Given the description of an element on the screen output the (x, y) to click on. 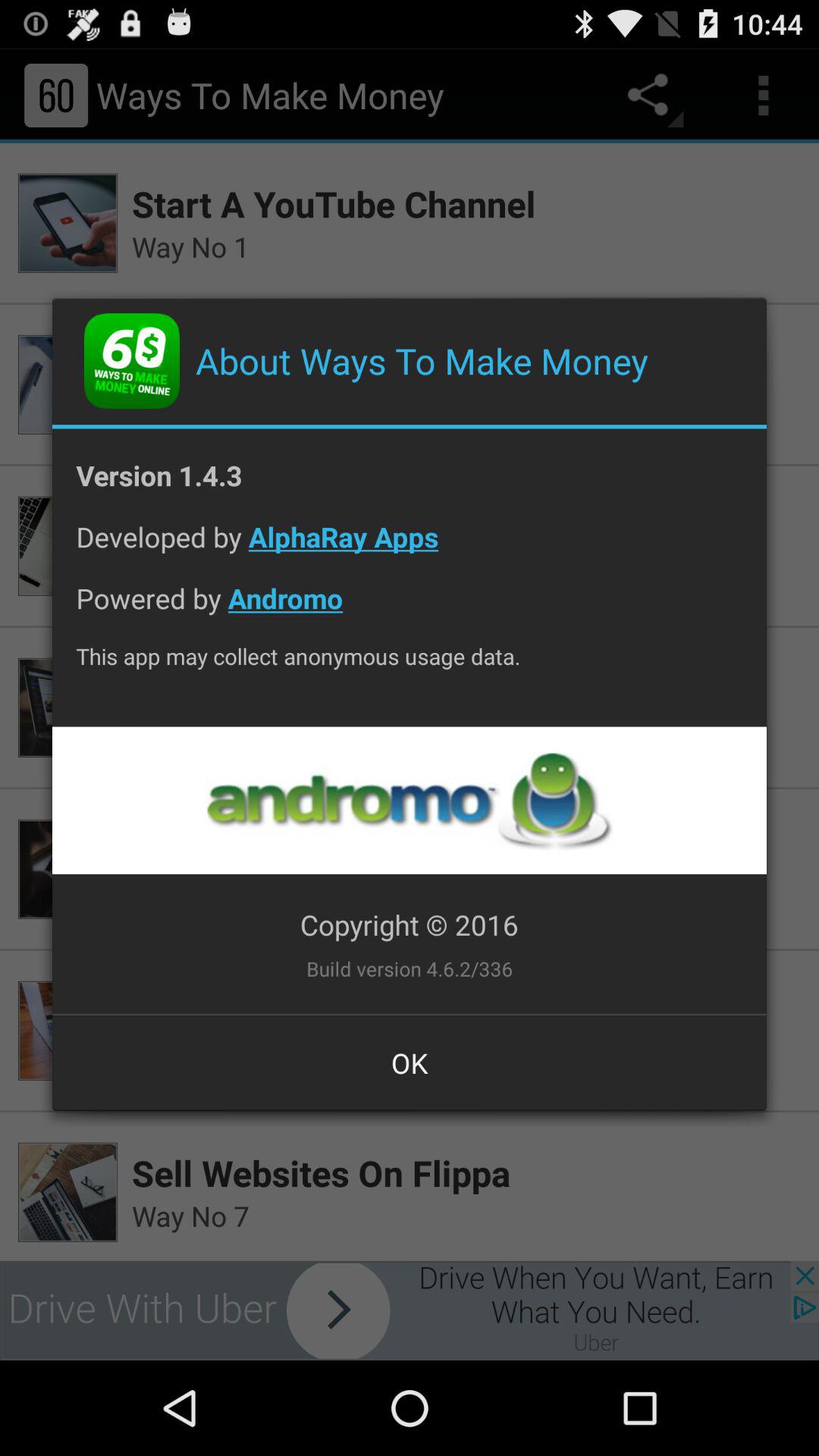
visit andromo (408, 800)
